Given the description of an element on the screen output the (x, y) to click on. 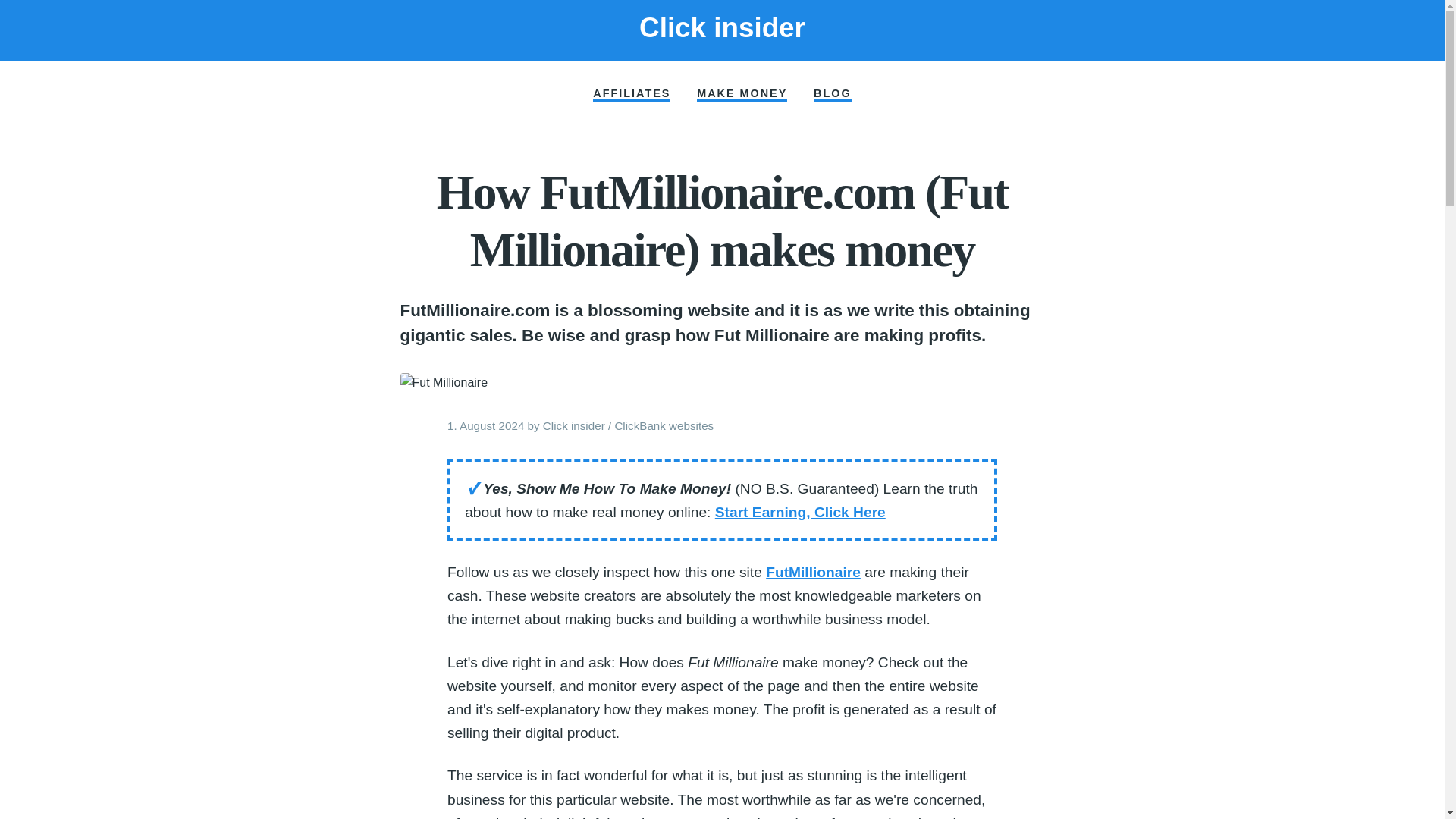
AFFILIATES (630, 93)
FutMillionaire (812, 571)
BLOG (832, 93)
Click insider (574, 425)
ClickBank websites (663, 425)
Click insider (722, 27)
Start Earning, Click Here (799, 512)
MAKE MONEY (742, 93)
